Given the description of an element on the screen output the (x, y) to click on. 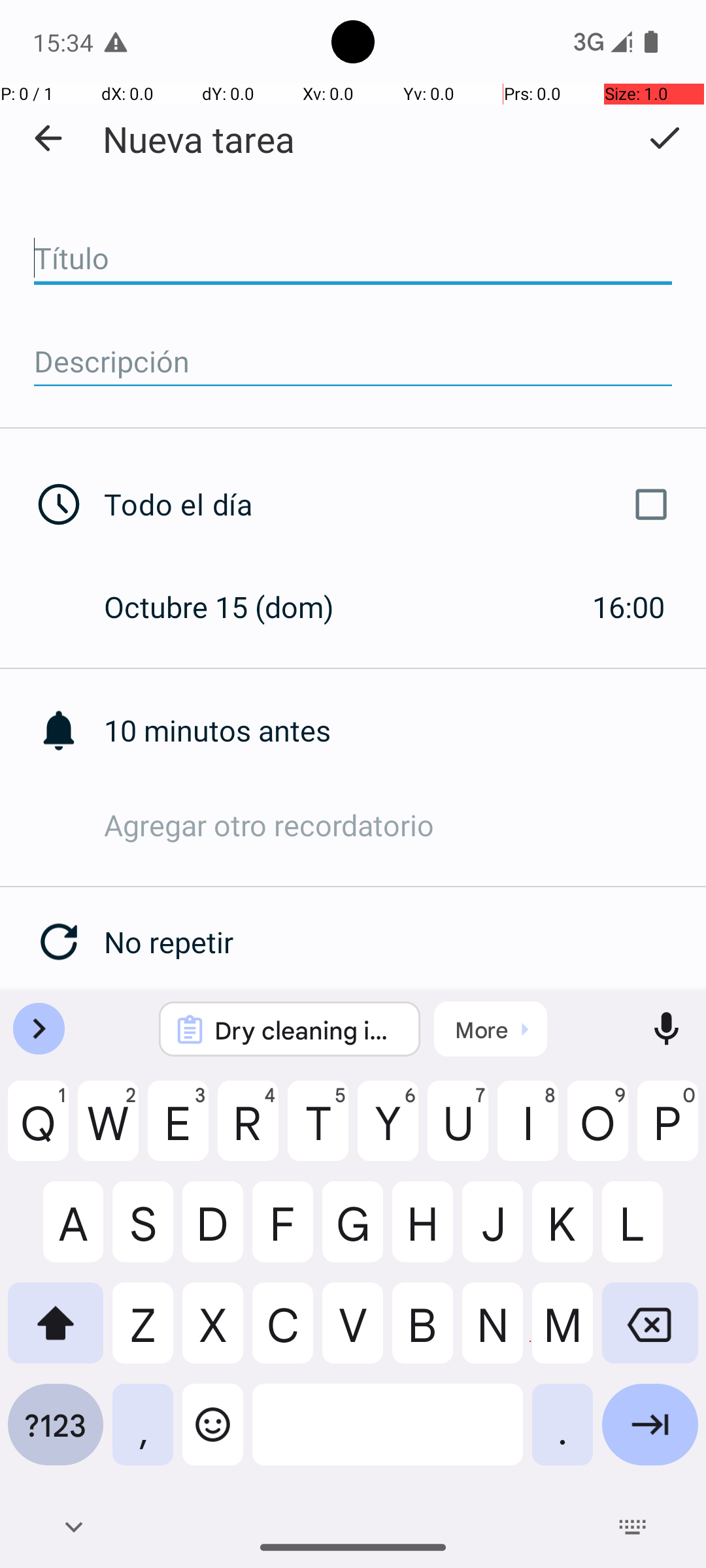
Nueva tarea Element type: android.widget.TextView (198, 138)
Título Element type: android.widget.EditText (352, 258)
Descripción Element type: android.widget.EditText (352, 361)
Dry cleaning is ready for pick-up. Element type: android.widget.TextView (306, 1029)
